Given the description of an element on the screen output the (x, y) to click on. 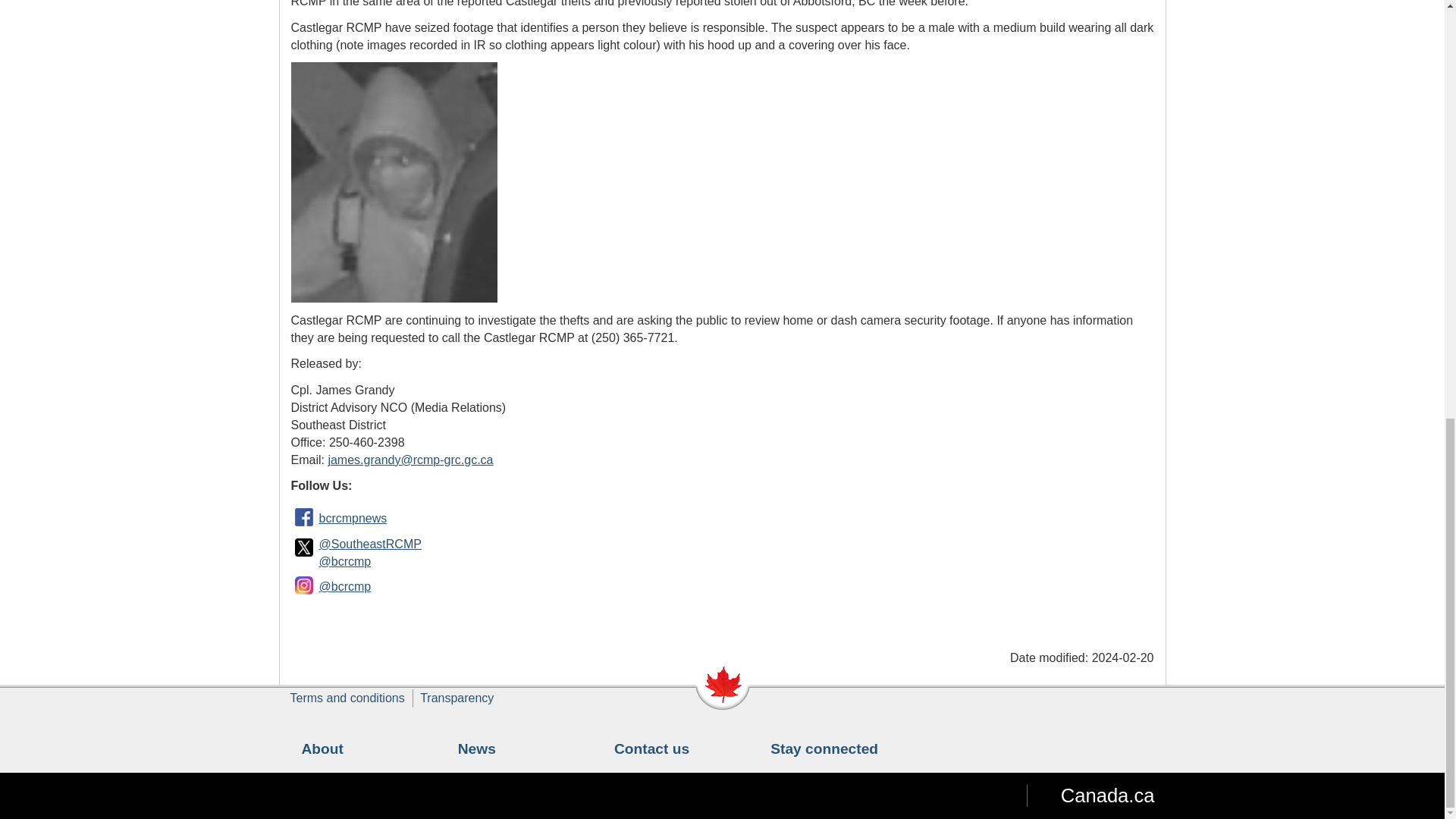
About (322, 748)
Twitter (304, 547)
News (477, 748)
Contact us (651, 748)
Instagram (304, 585)
Transparency (456, 697)
Canada.ca (1090, 795)
Stay connected (823, 748)
Facebook (304, 517)
bcrcmpnews (352, 517)
